Given the description of an element on the screen output the (x, y) to click on. 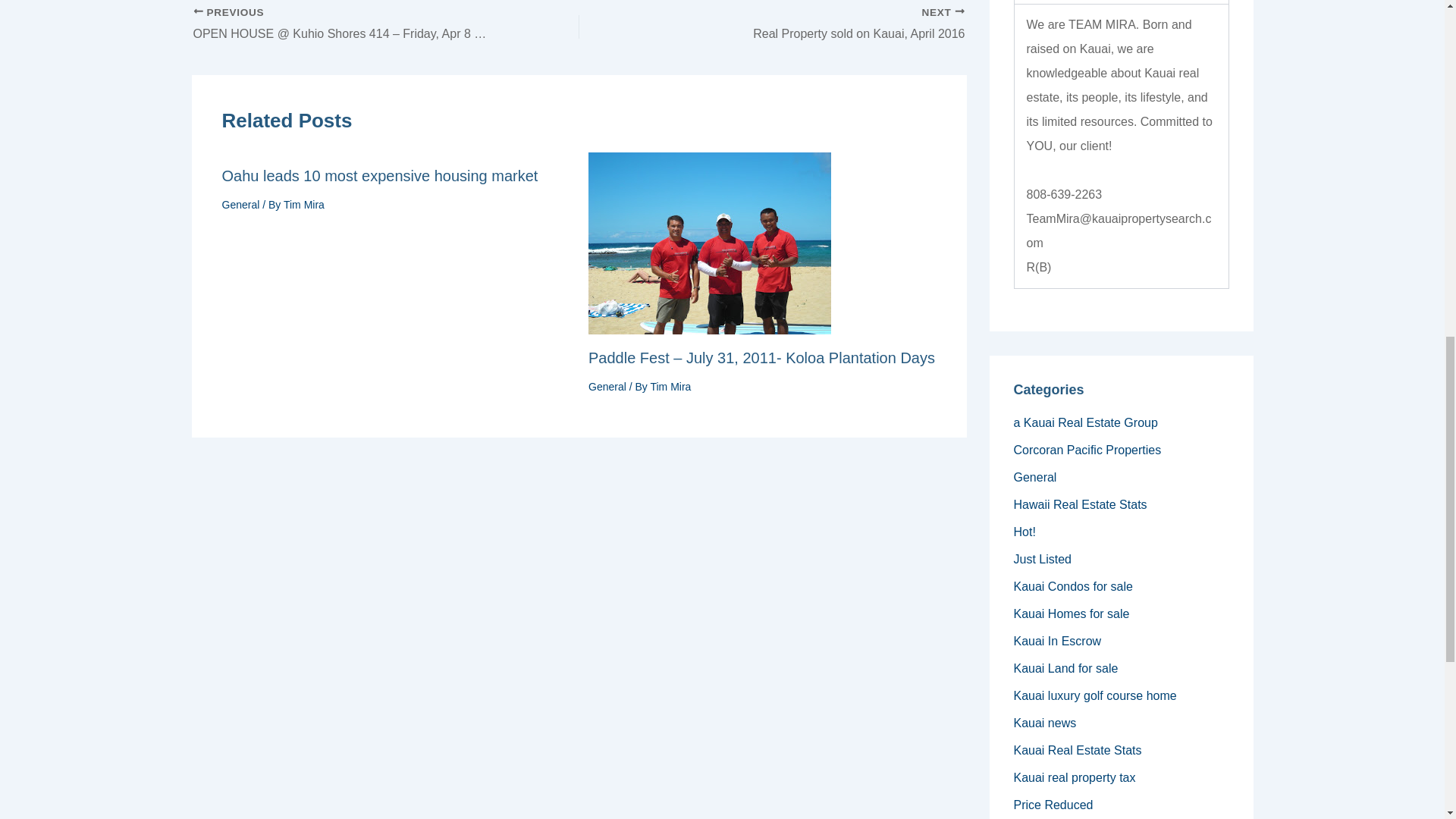
Real Property sold on Kauai, April 2016 (810, 24)
View all posts by Tim Mira (669, 386)
View all posts by Tim Mira (303, 204)
